Given the description of an element on the screen output the (x, y) to click on. 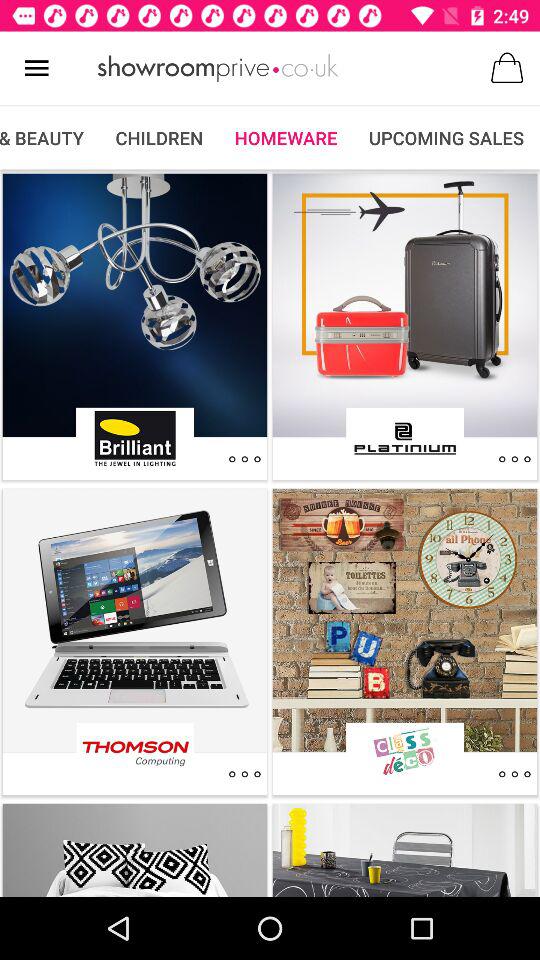
display options (514, 774)
